Given the description of an element on the screen output the (x, y) to click on. 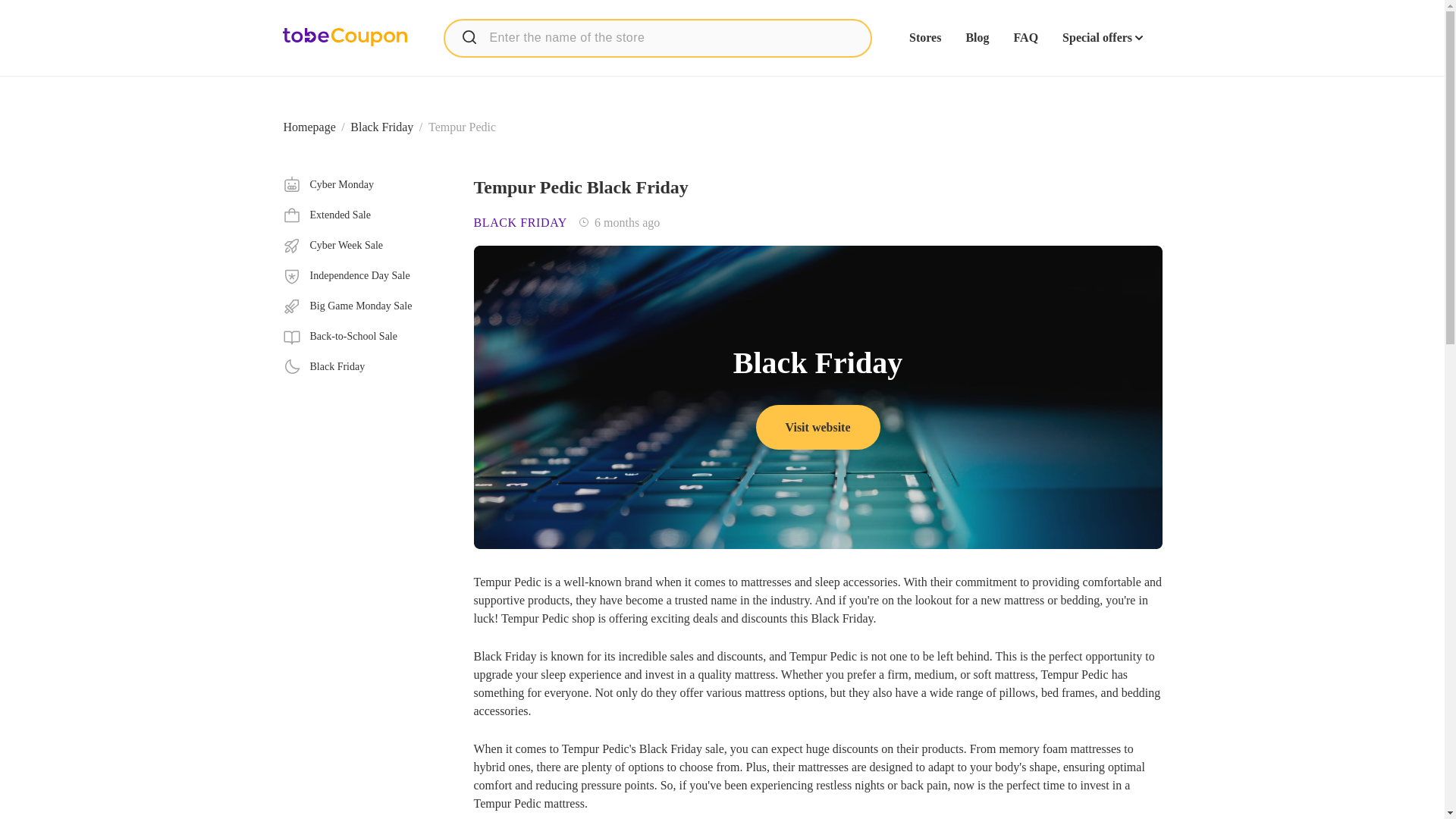
Big Game Monday Sale (365, 306)
Search (469, 37)
FAQ (1025, 37)
Black Friday (381, 126)
Back-to-School Sale (365, 336)
Black Friday (365, 366)
Stores (924, 37)
Cyber Monday (365, 185)
Homepage (309, 126)
Extended Sale (365, 215)
BLACK FRIDAY (520, 222)
Independence Day Sale (365, 275)
Blog (976, 37)
Visit website (817, 426)
Cyber Week Sale (365, 245)
